Given the description of an element on the screen output the (x, y) to click on. 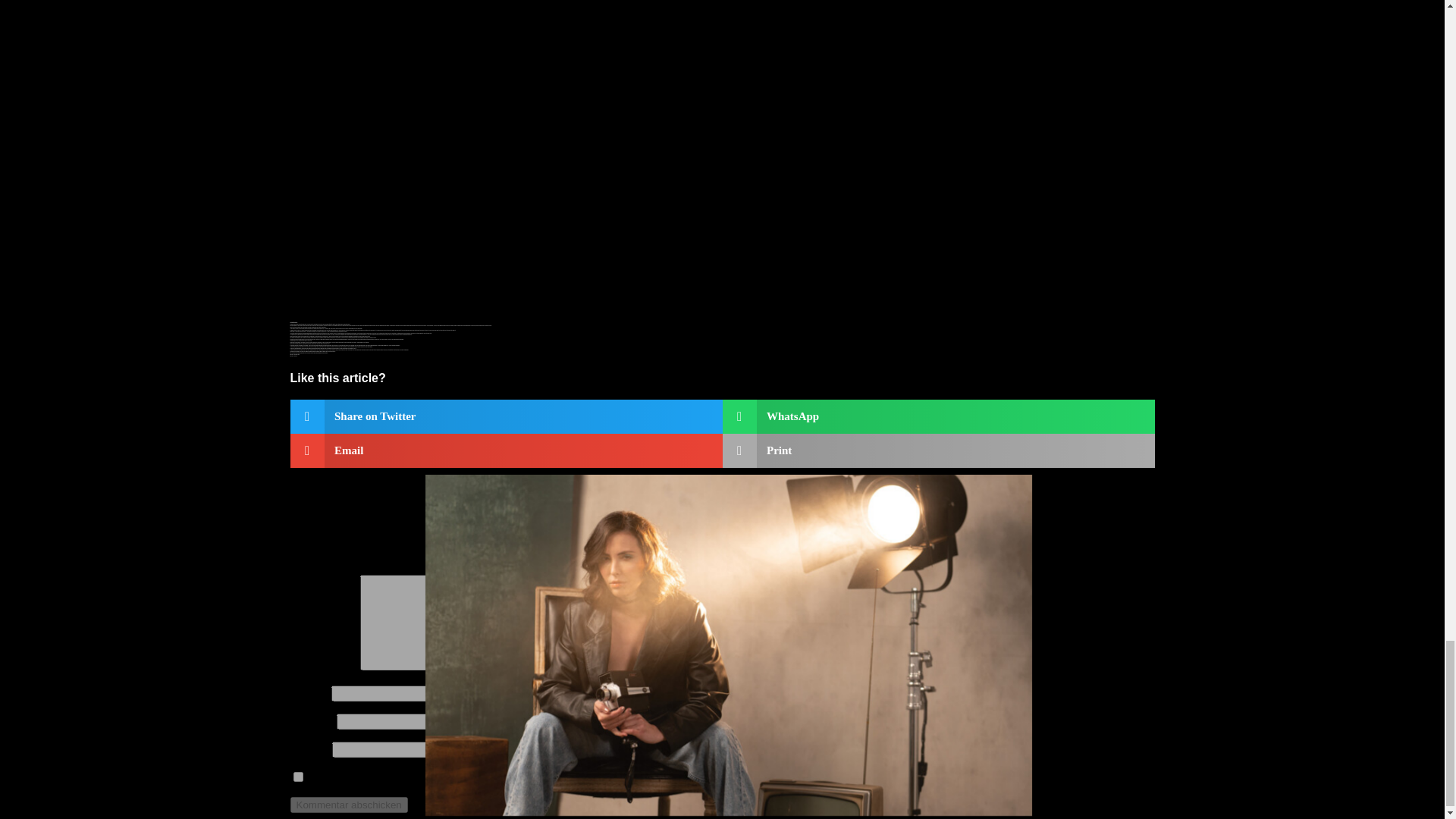
yes (297, 777)
Kommentar abschicken (348, 804)
Kommentar abschicken (348, 804)
